Given the description of an element on the screen output the (x, y) to click on. 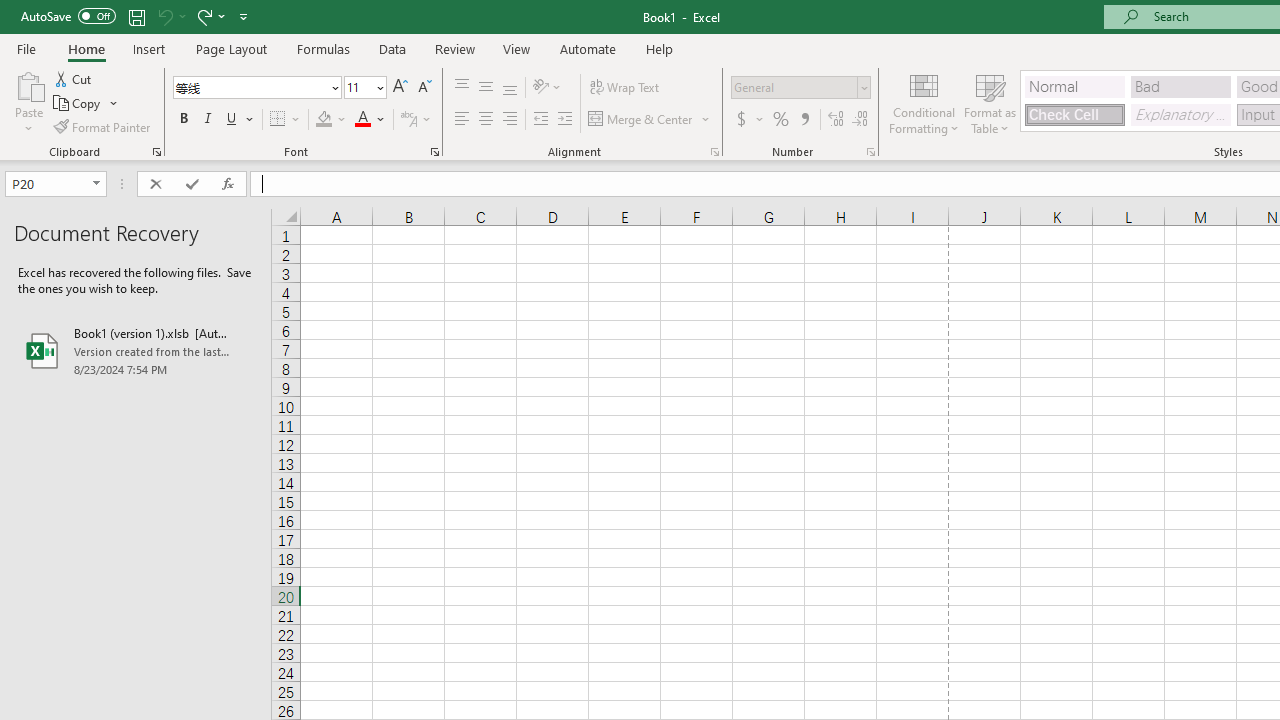
Check Cell (1074, 114)
Data (392, 48)
Decrease Decimal (859, 119)
Paste (28, 102)
Review (454, 48)
Fill Color RGB(255, 255, 0) (324, 119)
Font Color (370, 119)
Font Size (365, 87)
Decrease Indent (540, 119)
Bad (1180, 86)
Explanatory Text (1180, 114)
Wrap Text (624, 87)
File Tab (26, 48)
